Given the description of an element on the screen output the (x, y) to click on. 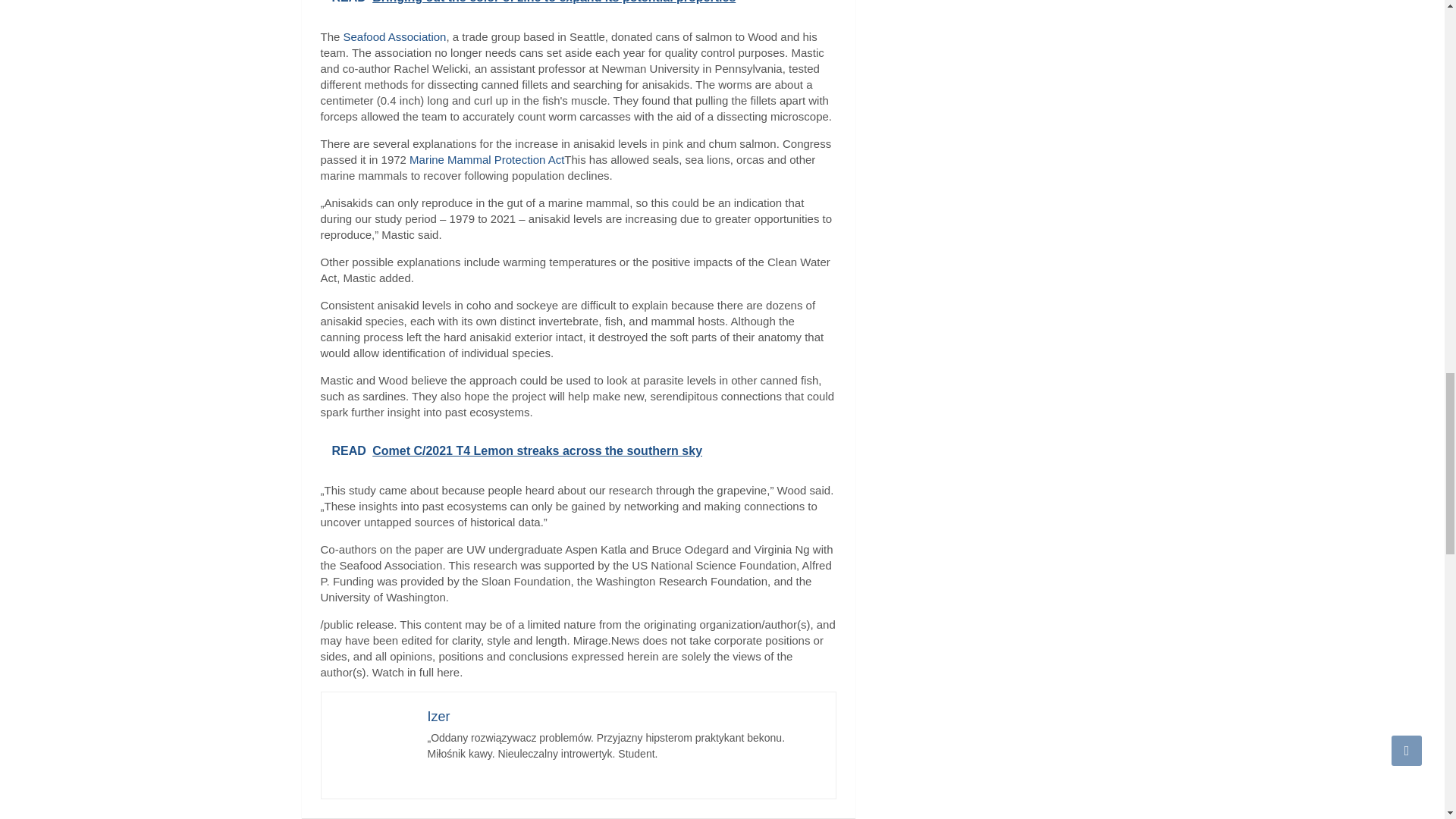
Marine Mammal Protection Act (486, 159)
Seafood Association (394, 36)
Izer (438, 716)
